Given the description of an element on the screen output the (x, y) to click on. 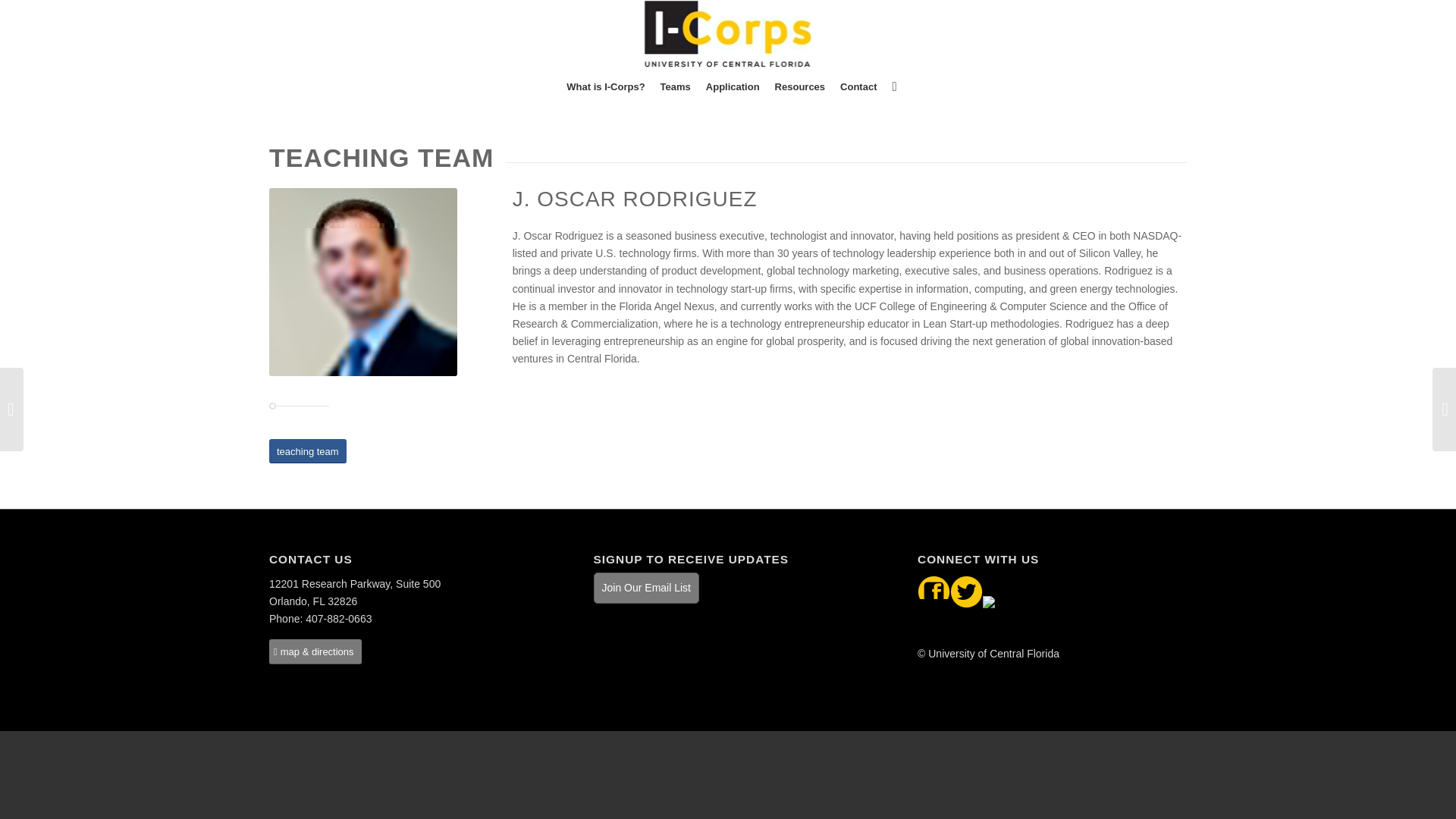
logo-cropped (726, 33)
Teams (675, 86)
x751 (363, 281)
Contact (857, 86)
Join Our Email List (646, 587)
What is I-Corps? (605, 86)
Resources (799, 86)
teaching team (307, 451)
Application (732, 86)
